Given the description of an element on the screen output the (x, y) to click on. 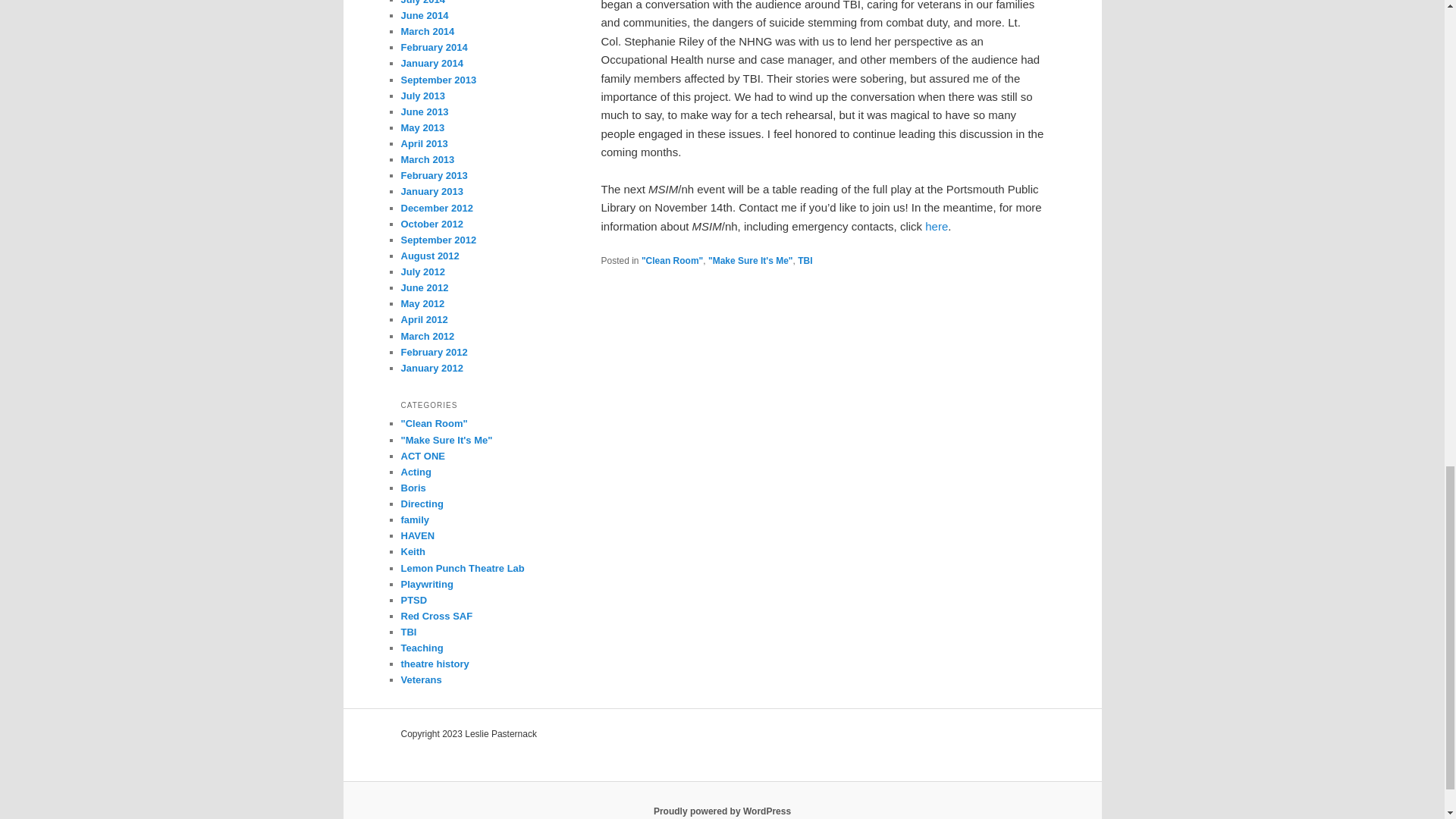
here (935, 226)
Semantic Personal Publishing Platform (721, 810)
"Make Sure It's Me" (750, 260)
TBI (804, 260)
"Clean Room" (672, 260)
